Given the description of an element on the screen output the (x, y) to click on. 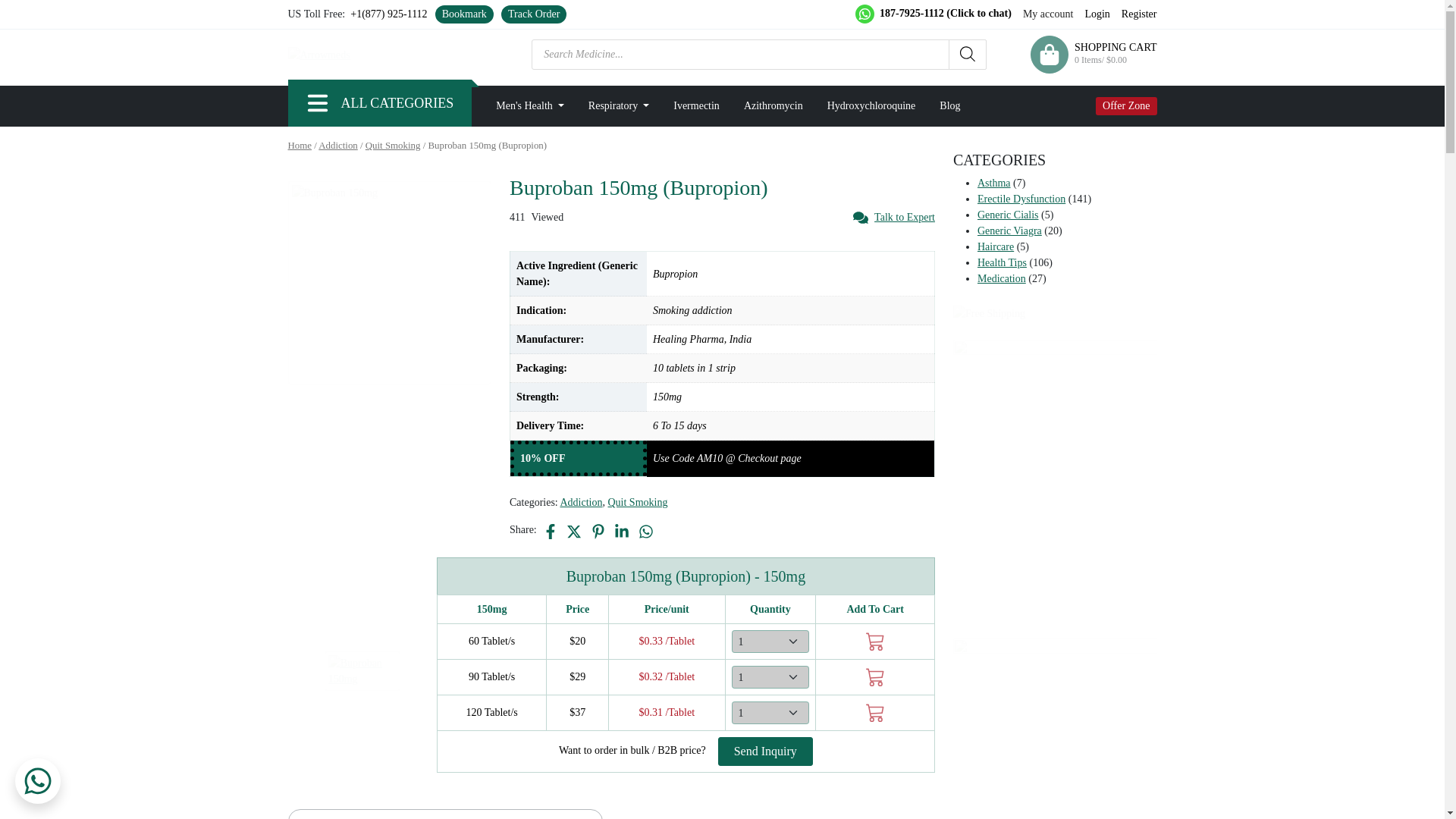
Bookmark (464, 13)
Blog (949, 105)
Login (1096, 13)
Hydroxychloroquine (871, 105)
Offer Zone (1126, 106)
My account (1048, 13)
Register (1139, 13)
Track Order (533, 13)
Ivermectin (696, 105)
Men's Health (529, 105)
